Given the description of an element on the screen output the (x, y) to click on. 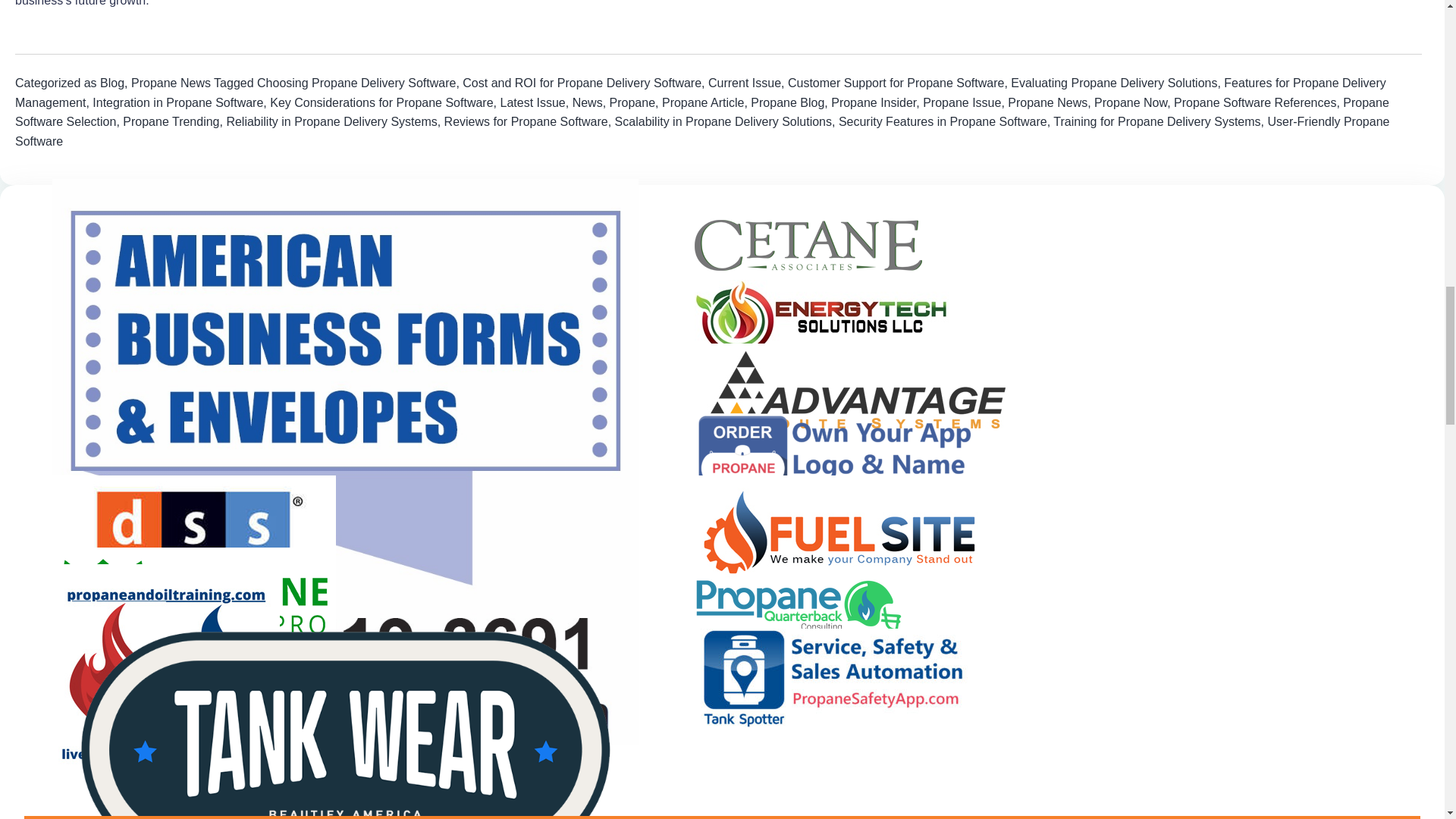
Propane Trending (170, 121)
Propane Software Selection (701, 112)
Propane (633, 102)
Propane Insider (873, 102)
News (587, 102)
Propane Blog (787, 102)
Evaluating Propane Delivery Solutions (1113, 82)
Latest Issue (531, 102)
Propane News (171, 82)
Propane Software References (1254, 102)
Propane Now (1130, 102)
Cost and ROI for Propane Delivery Software (582, 82)
Propane News (1047, 102)
Current Issue (743, 82)
